Given the description of an element on the screen output the (x, y) to click on. 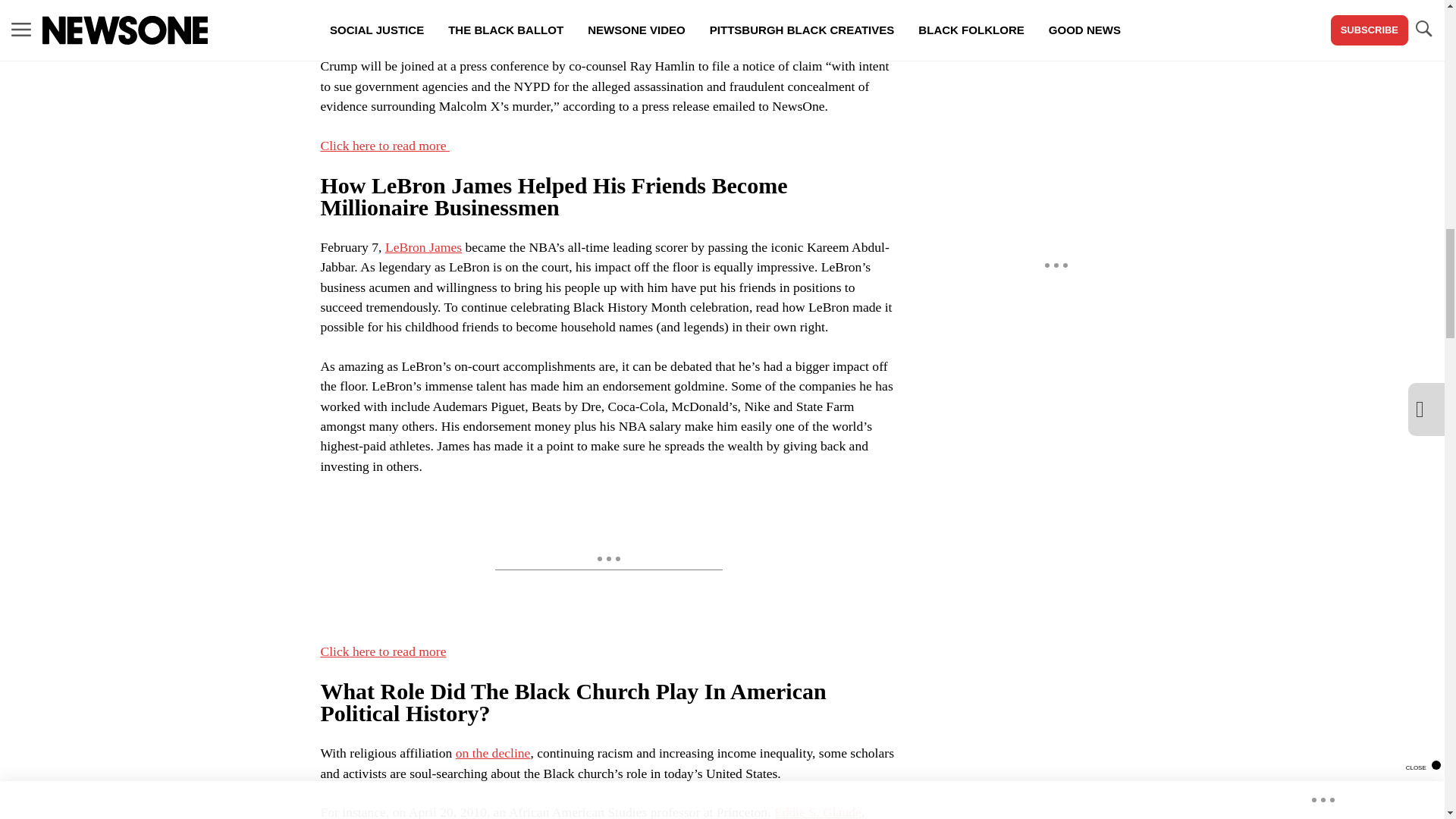
Eddie S. Glaude (817, 811)
Click here to read more  (384, 145)
on the decline (493, 752)
Click here to read more (382, 651)
LeBron James (423, 246)
